Given the description of an element on the screen output the (x, y) to click on. 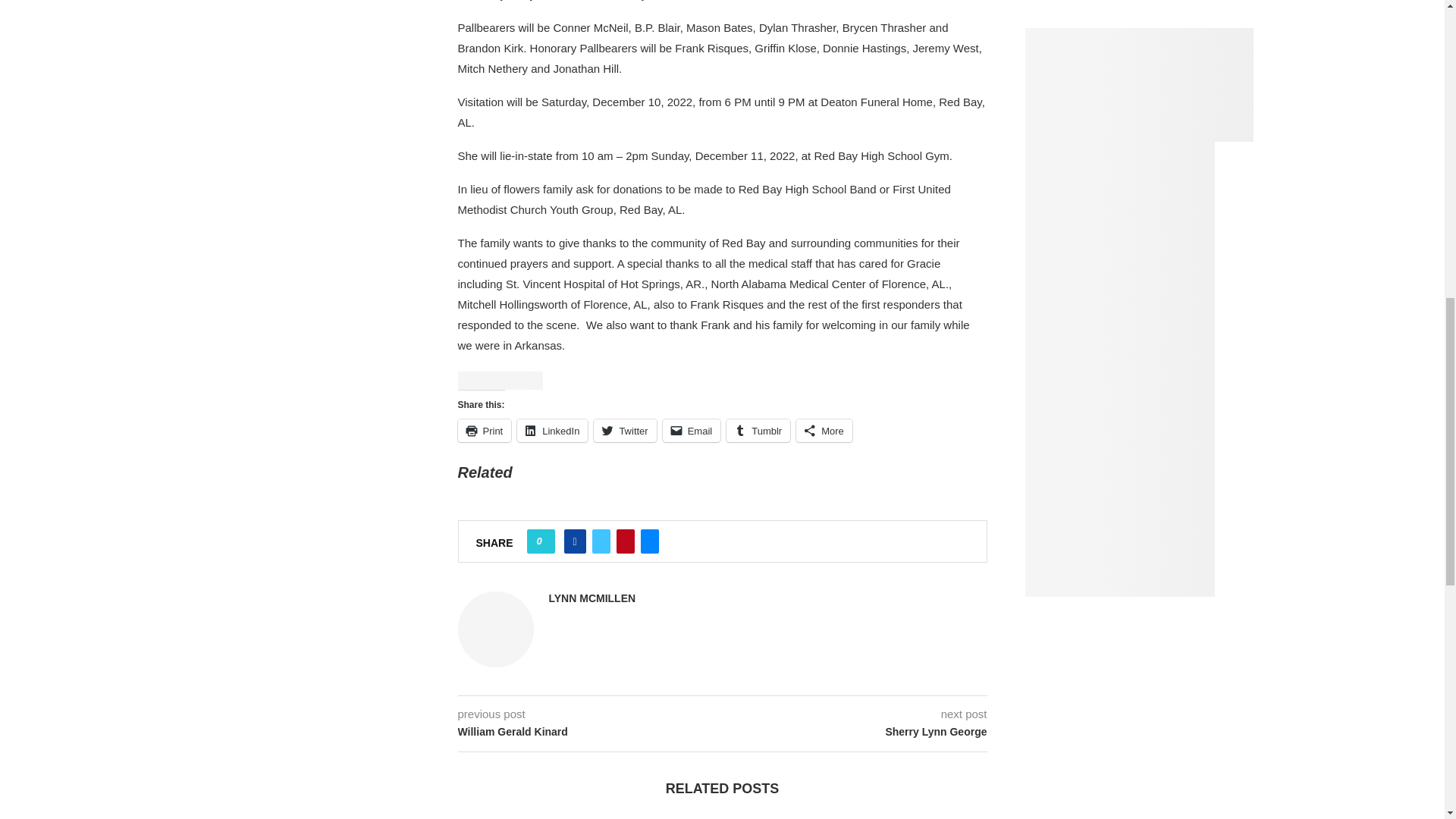
William Gerald Kinard (590, 732)
More (823, 430)
Email (691, 430)
Author Lynn McMillen (592, 598)
Click to email a link to a friend (691, 430)
Click to share on LinkedIn (552, 430)
Click to share on Twitter (625, 430)
Click to print (485, 430)
Click to share on Tumblr (758, 430)
LinkedIn (552, 430)
